Given the description of an element on the screen output the (x, y) to click on. 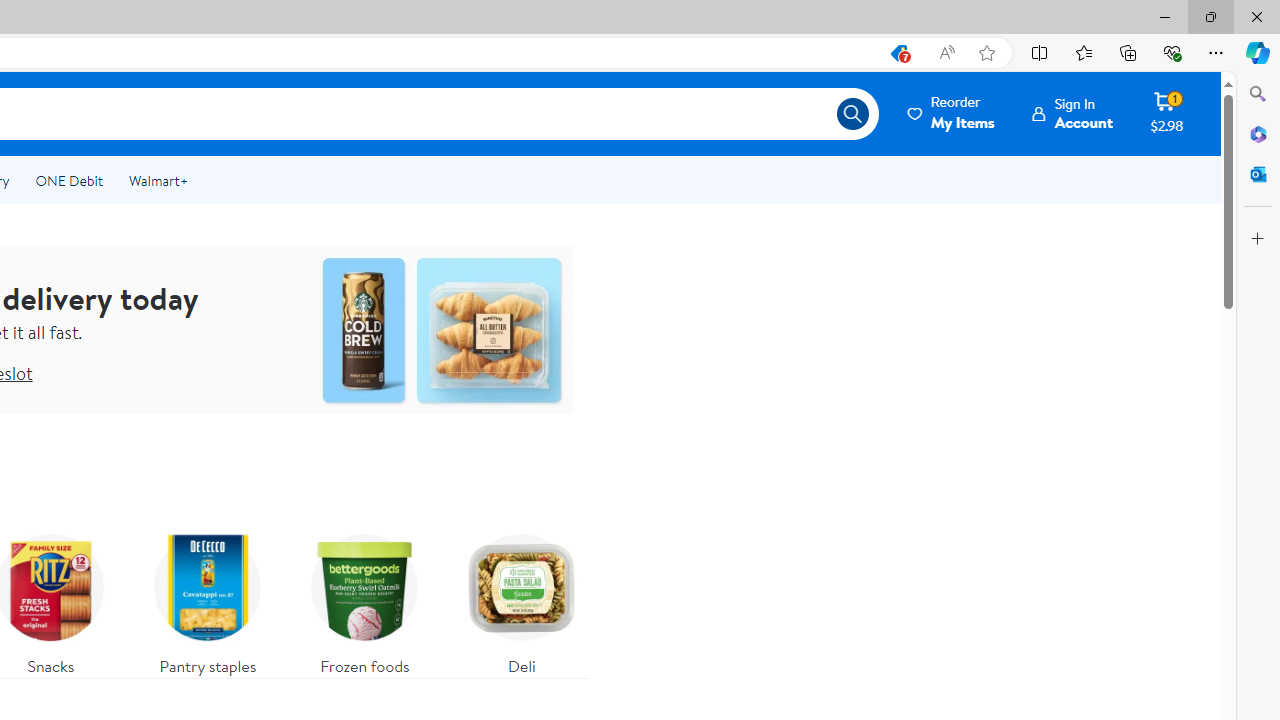
Deli (521, 599)
Sign InAccount (1072, 113)
Reorder My Items (952, 113)
ONE Debit (68, 180)
Frozen foods (365, 599)
Walmart+ (158, 180)
Frozen foods (364, 599)
This site has coupons! Shopping in Microsoft Edge, 7 (898, 53)
Deli (521, 599)
